Given the description of an element on the screen output the (x, y) to click on. 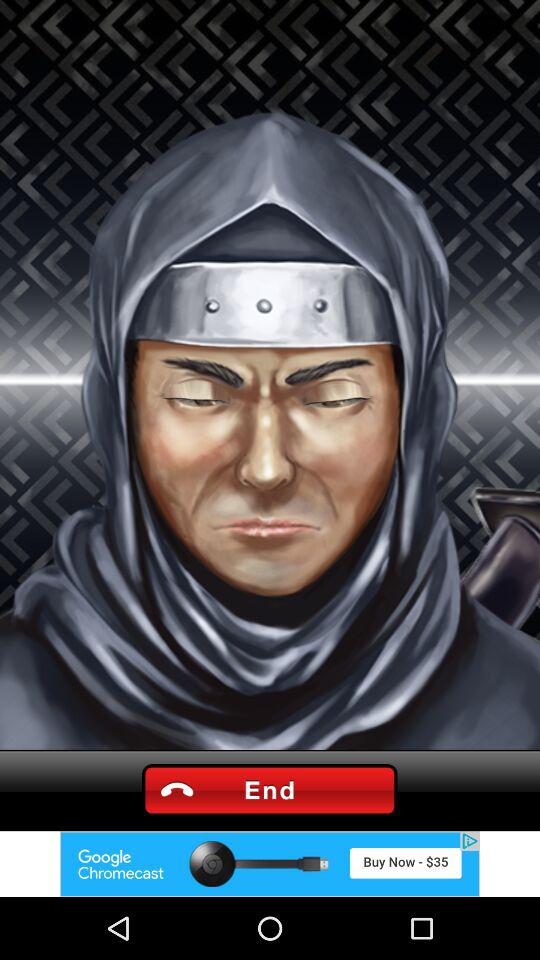
call end (269, 790)
